Given the description of an element on the screen output the (x, y) to click on. 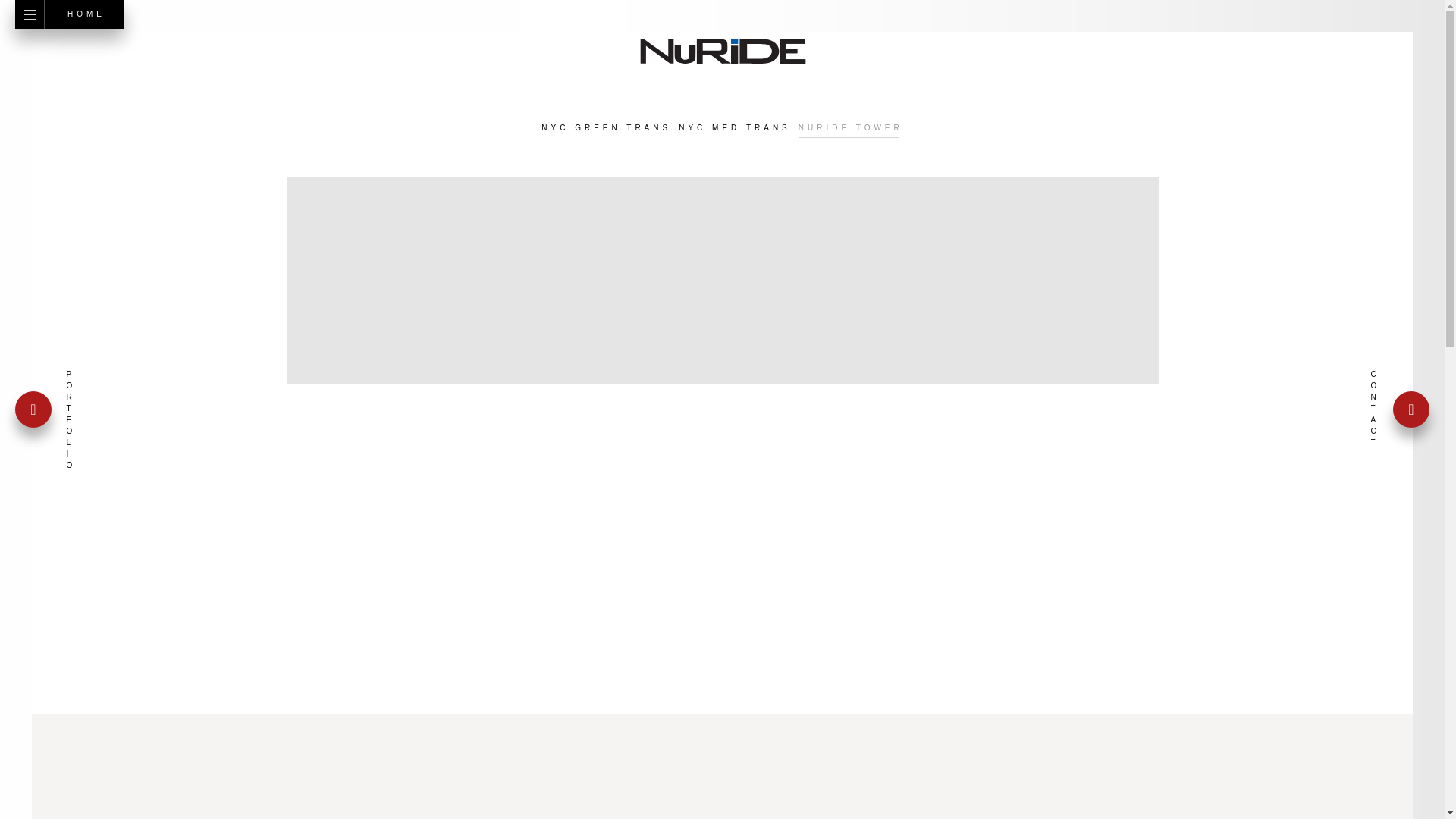
NYC GREEN TRANS (606, 127)
NURIDE TOWER (849, 127)
NYC MED TRANS (734, 127)
